Given the description of an element on the screen output the (x, y) to click on. 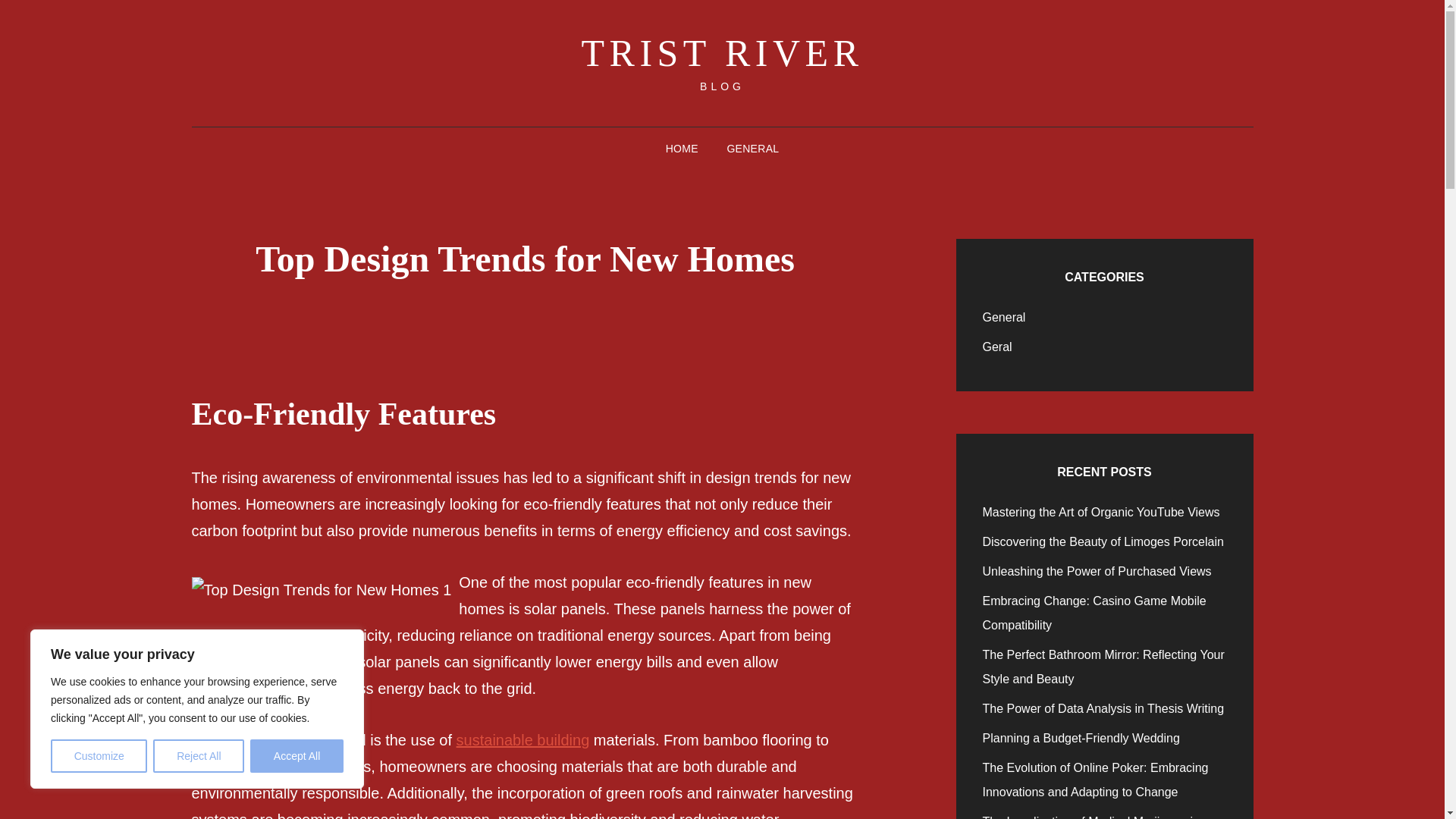
Accept All (296, 756)
Discovering the Beauty of Limoges Porcelain (1103, 541)
General (1004, 317)
Customize (98, 756)
Embracing Change: Casino Game Mobile Compatibility (1094, 612)
sustainable building (523, 740)
Geral (996, 346)
Unleashing the Power of Purchased Views (1096, 571)
The Power of Data Analysis in Thesis Writing (1103, 707)
GENERAL (752, 148)
Mastering the Art of Organic YouTube Views (1101, 512)
Reject All (198, 756)
HOME (681, 148)
TRIST RIVER (721, 52)
